Given the description of an element on the screen output the (x, y) to click on. 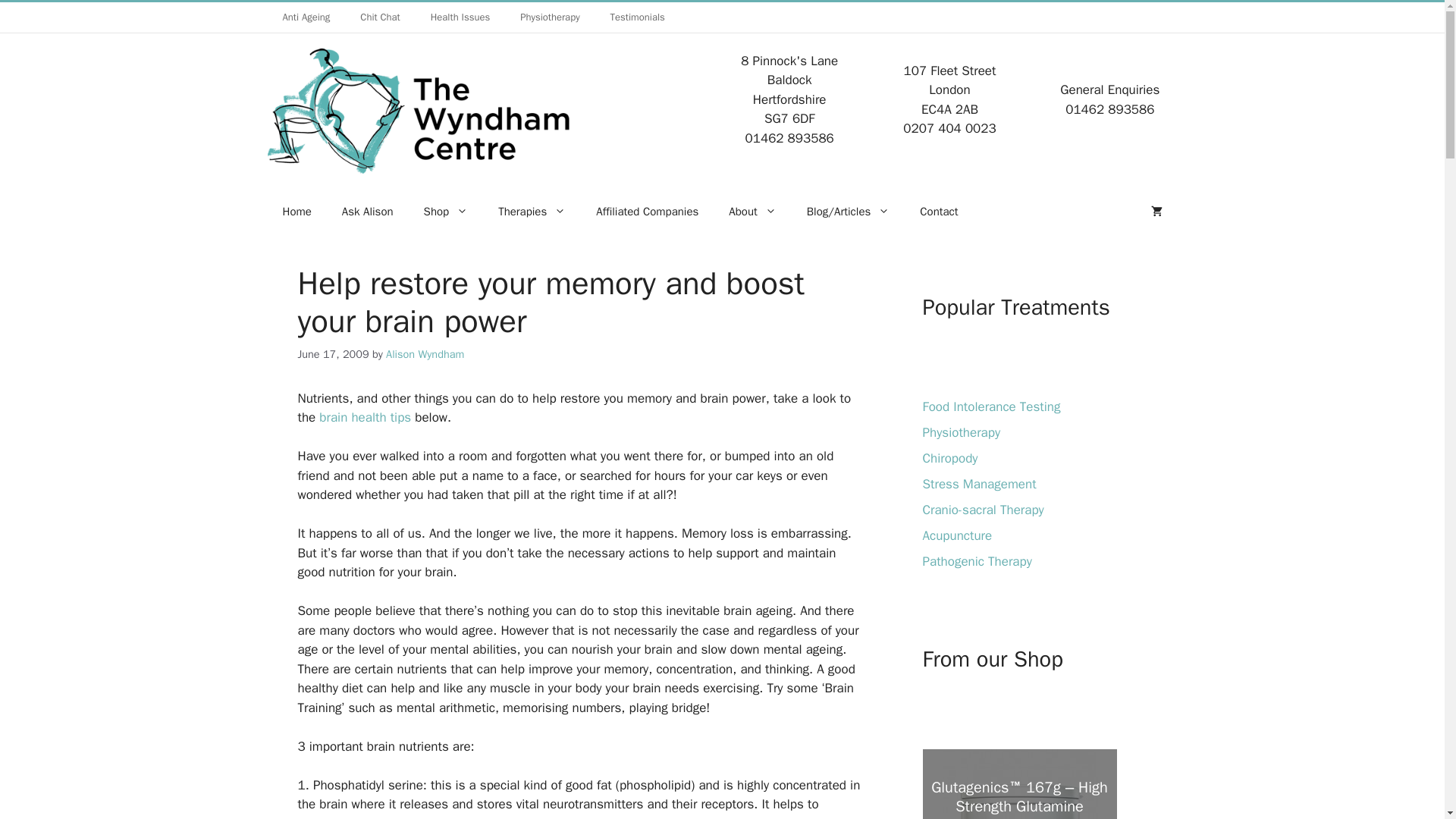
Shop (446, 211)
Ask Alison (367, 211)
Health Issues (459, 17)
Home (296, 211)
Anti Ageing (305, 17)
View your shopping cart (1156, 211)
Therapies (531, 211)
Physiotherapy (549, 17)
Chit Chat (379, 17)
Testimonials (637, 17)
View all posts by Alison Wyndham (424, 354)
